Given the description of an element on the screen output the (x, y) to click on. 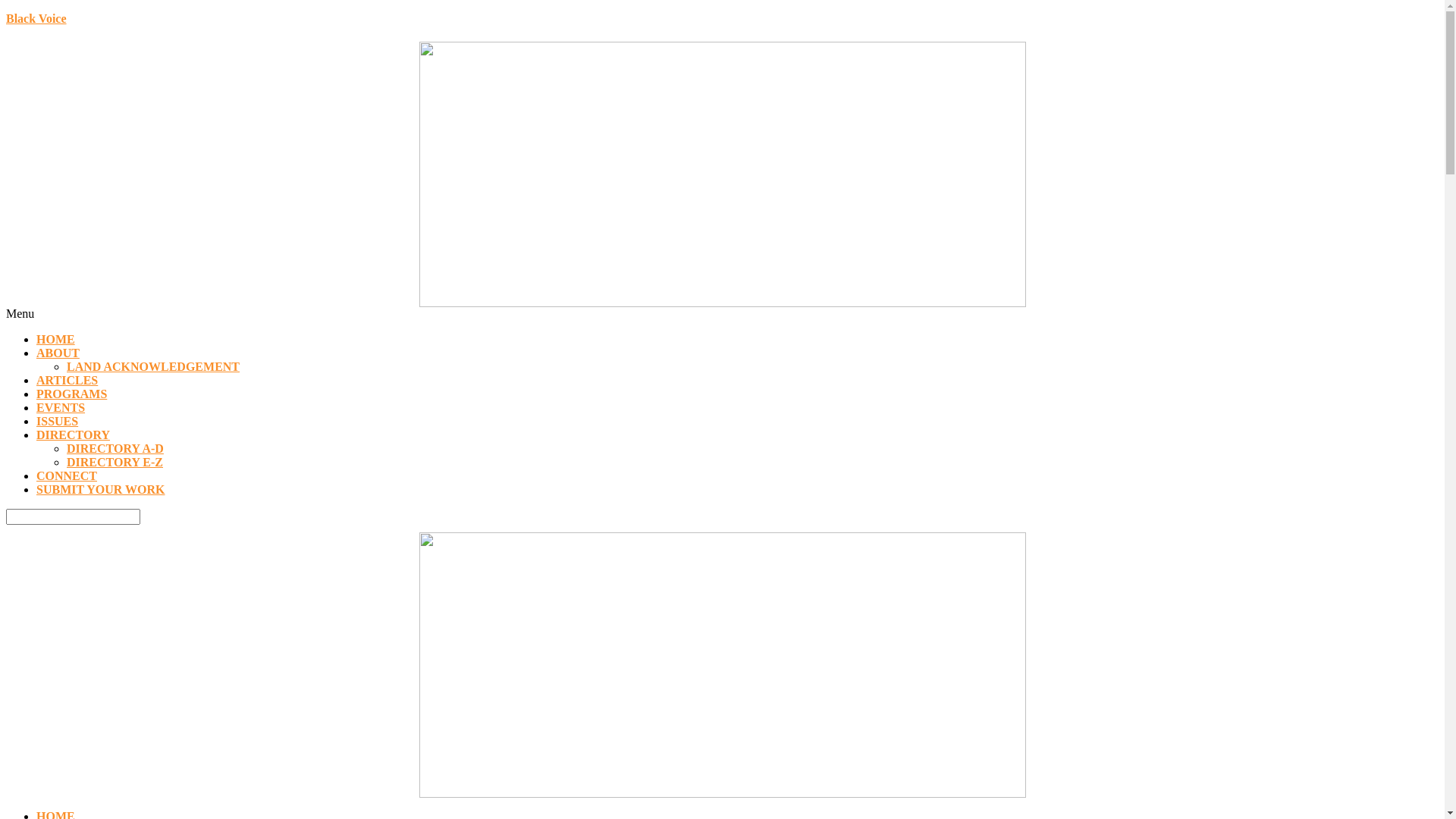
ARTICLES Element type: text (66, 379)
DIRECTORY Element type: text (72, 434)
EVENTS Element type: text (60, 407)
DIRECTORY A-D Element type: text (114, 448)
LAND ACKNOWLEDGEMENT Element type: text (152, 366)
DIRECTORY E-Z Element type: text (114, 461)
Search Element type: hover (73, 516)
CONNECT Element type: text (66, 475)
Black Voice Element type: text (36, 18)
SUBMIT YOUR WORK Element type: text (100, 489)
HOME Element type: text (55, 338)
ABOUT Element type: text (57, 352)
ISSUES Element type: text (57, 420)
PROGRAMS Element type: text (71, 393)
